Given the description of an element on the screen output the (x, y) to click on. 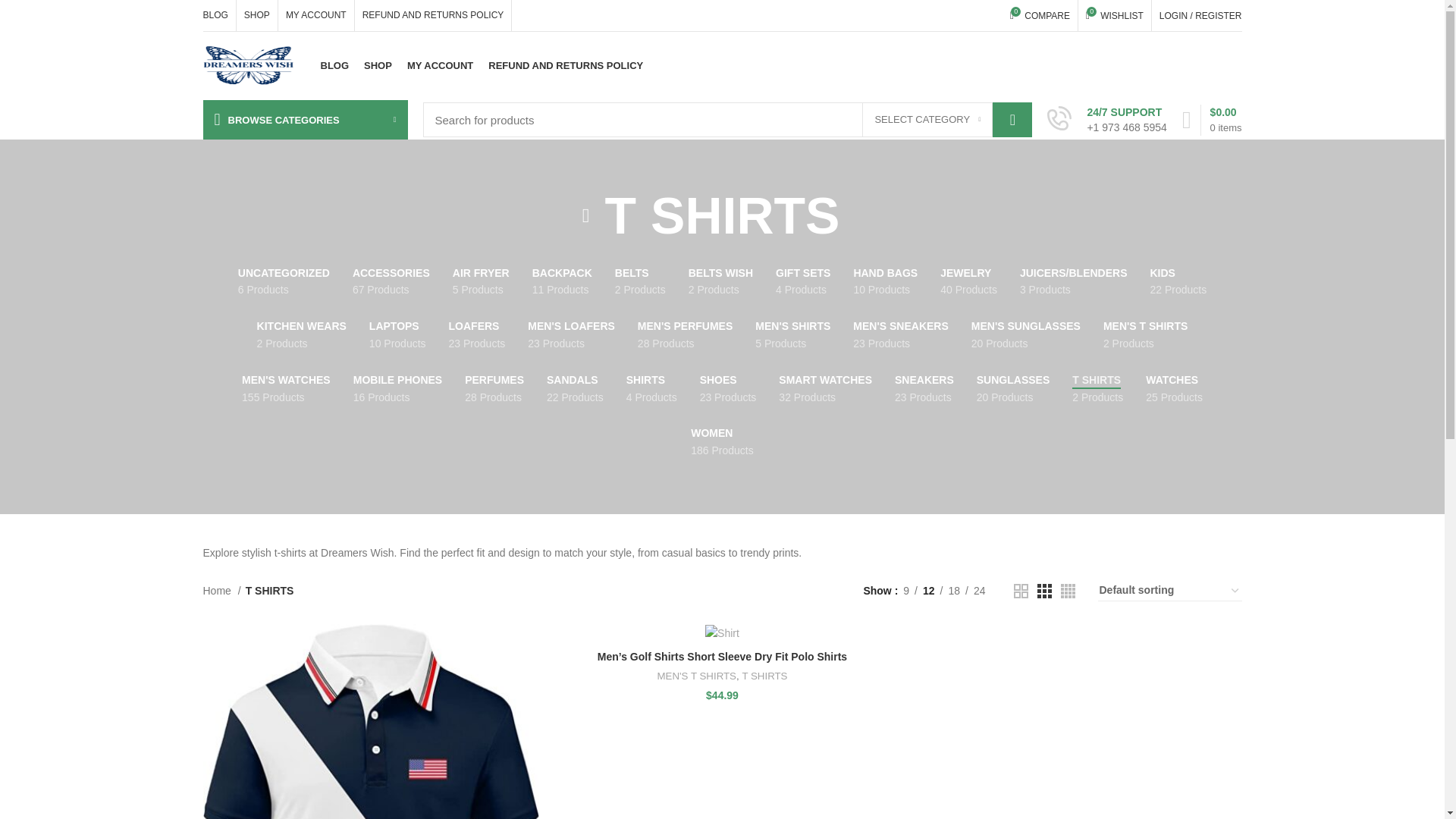
My account (1200, 15)
SELECT CATEGORY (926, 119)
My Wishlist (1114, 15)
SHOP (377, 65)
Shopping cart (1211, 119)
MY ACCOUNT (439, 65)
Compare products (1040, 15)
REFUND AND RETURNS POLICY (1040, 15)
MY ACCOUNT (433, 15)
